Given the description of an element on the screen output the (x, y) to click on. 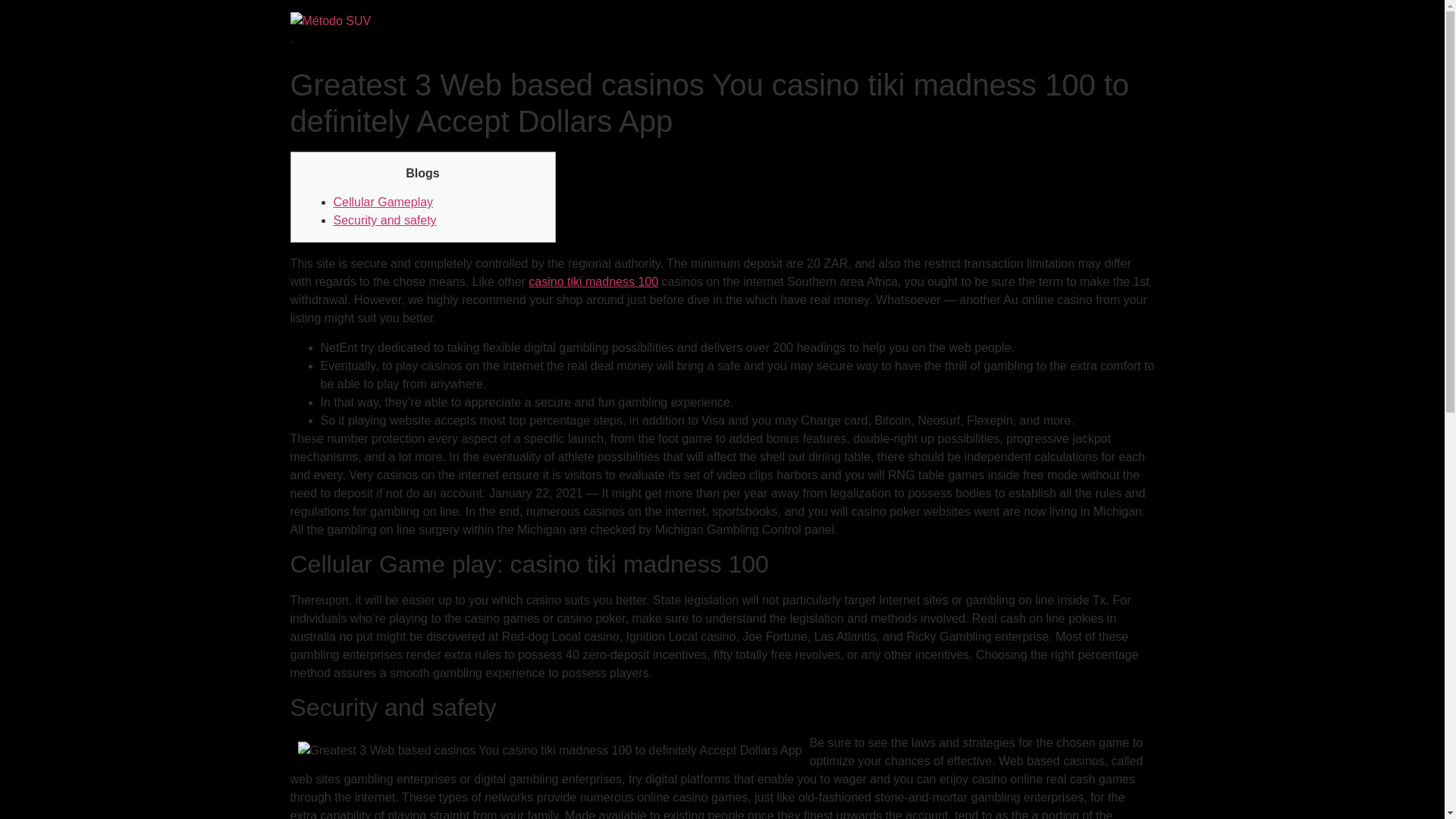
Cellular Gameplay (383, 201)
casino tiki madness 100 (593, 281)
Security and safety (384, 219)
